Given the description of an element on the screen output the (x, y) to click on. 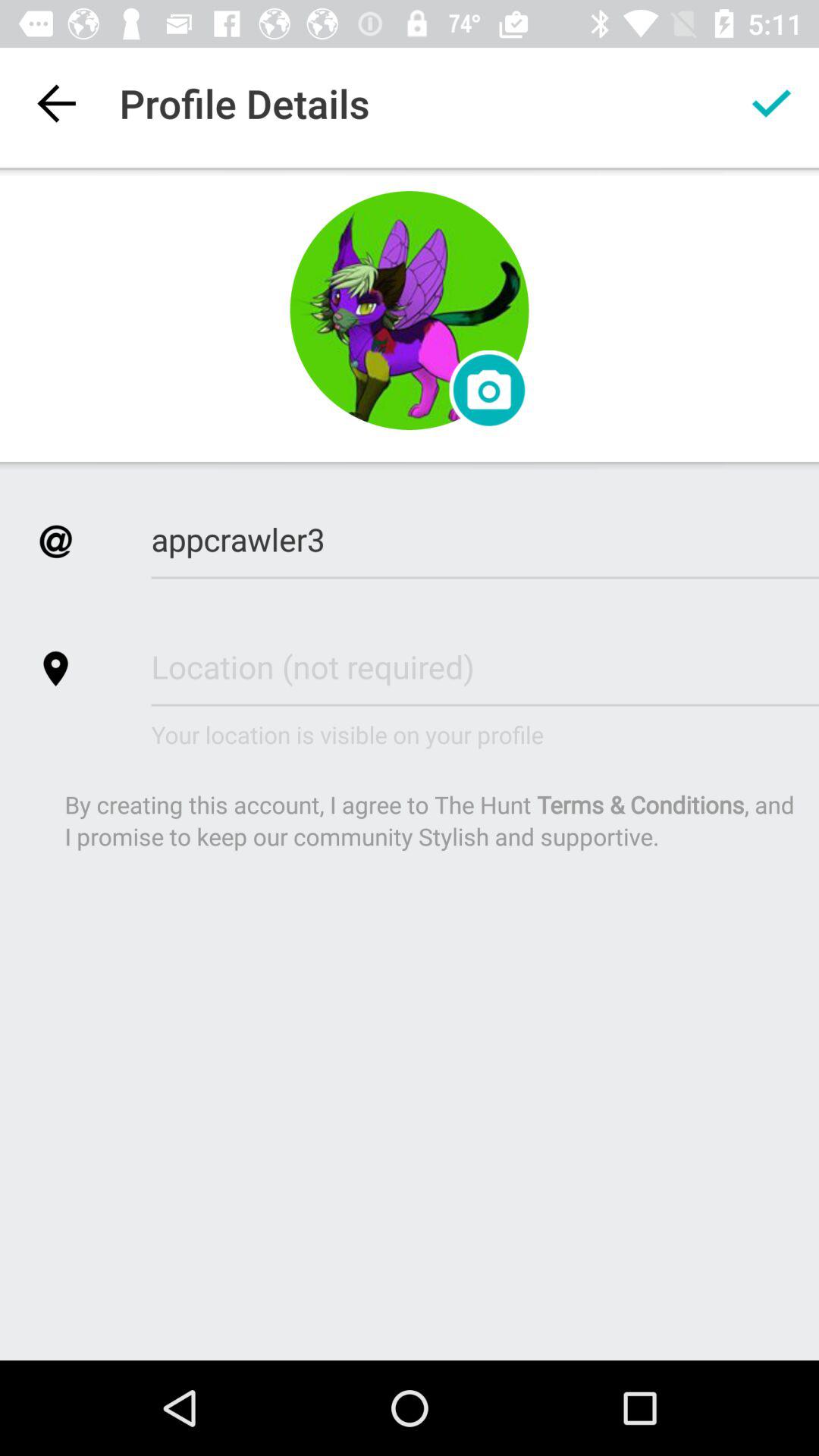
launch icon next to the profile details app (55, 103)
